Given the description of an element on the screen output the (x, y) to click on. 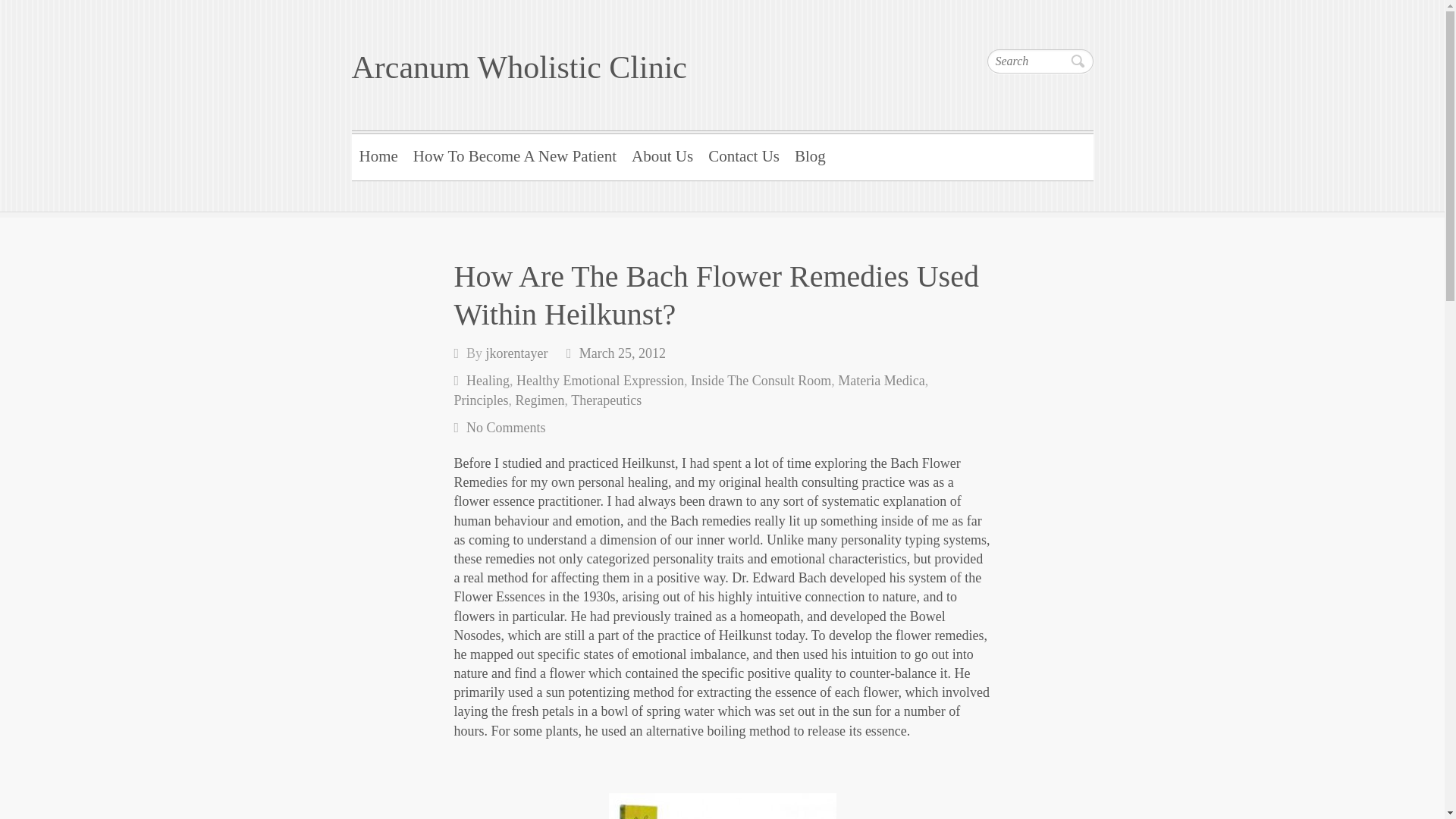
jkorentayer (517, 353)
March 25, 2012 (622, 353)
Healthy Emotional Expression (600, 380)
Home (379, 155)
Blog (809, 155)
No Comments (505, 427)
Arcanum Wholistic Clinic (519, 67)
3:42 am (622, 353)
Regimen (539, 400)
Materia Medica (881, 380)
Inside The Consult Room (760, 380)
How To Become A New Patient (515, 155)
Principles (480, 400)
Contact Us (743, 155)
Healing (487, 380)
